Given the description of an element on the screen output the (x, y) to click on. 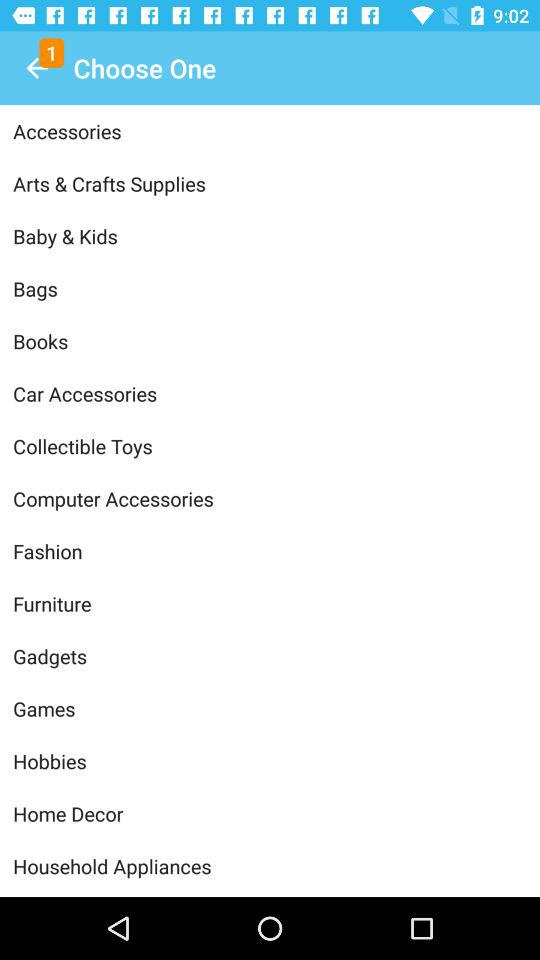
click gadgets item (269, 656)
